Given the description of an element on the screen output the (x, y) to click on. 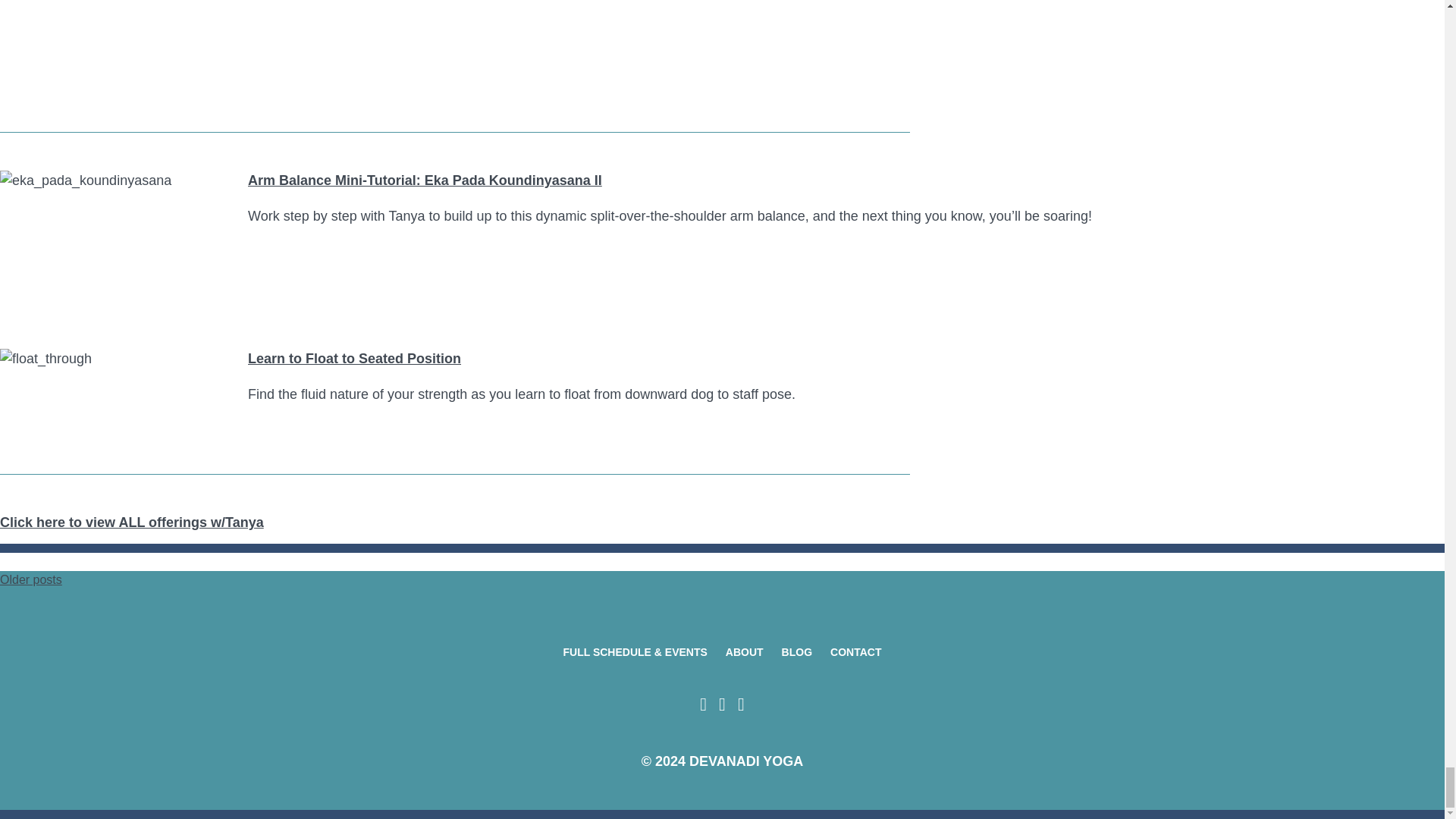
facebook (703, 704)
instagram (741, 708)
twitter (722, 704)
